Given the description of an element on the screen output the (x, y) to click on. 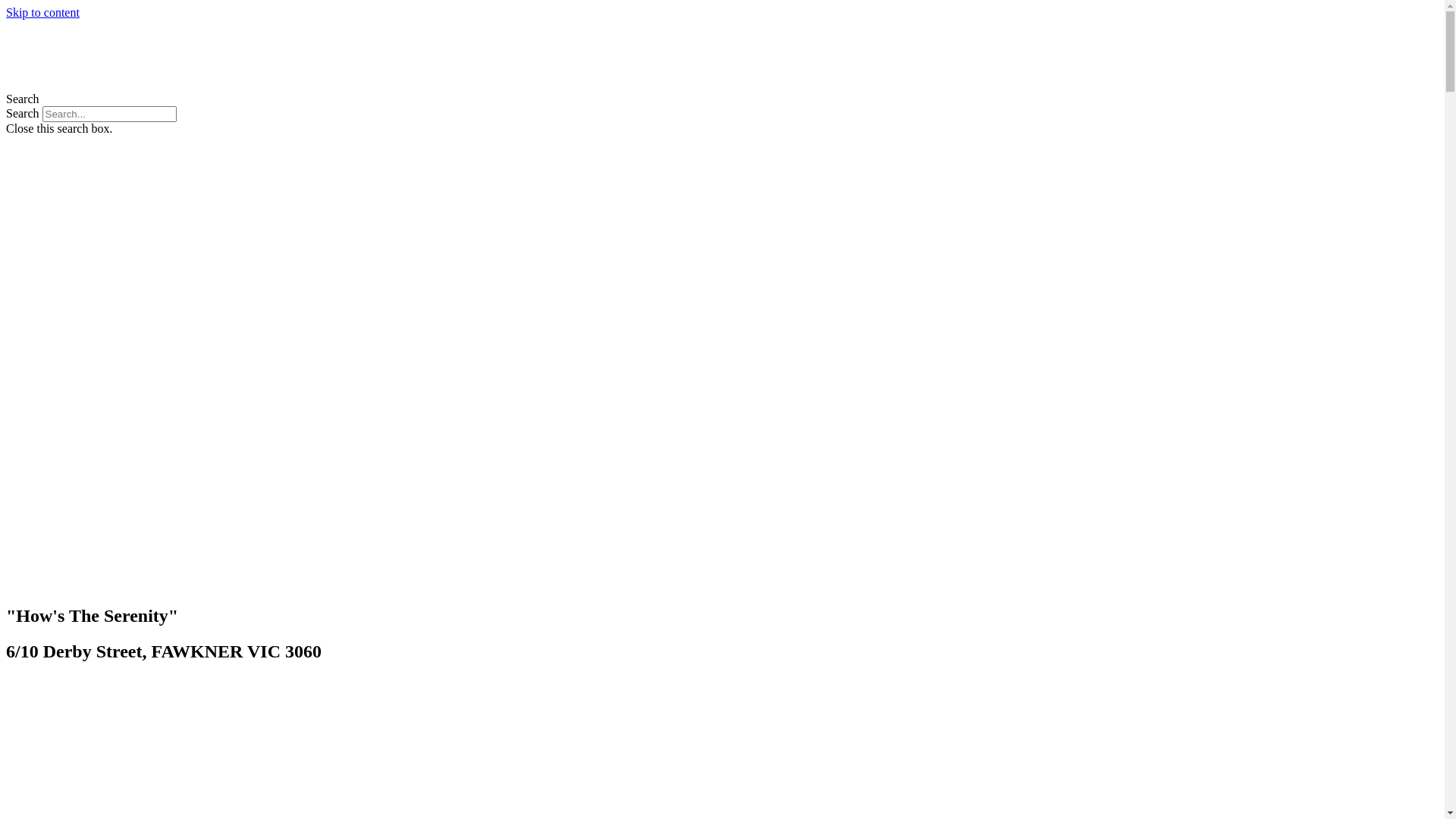
Skip to content Element type: text (42, 12)
